Given the description of an element on the screen output the (x, y) to click on. 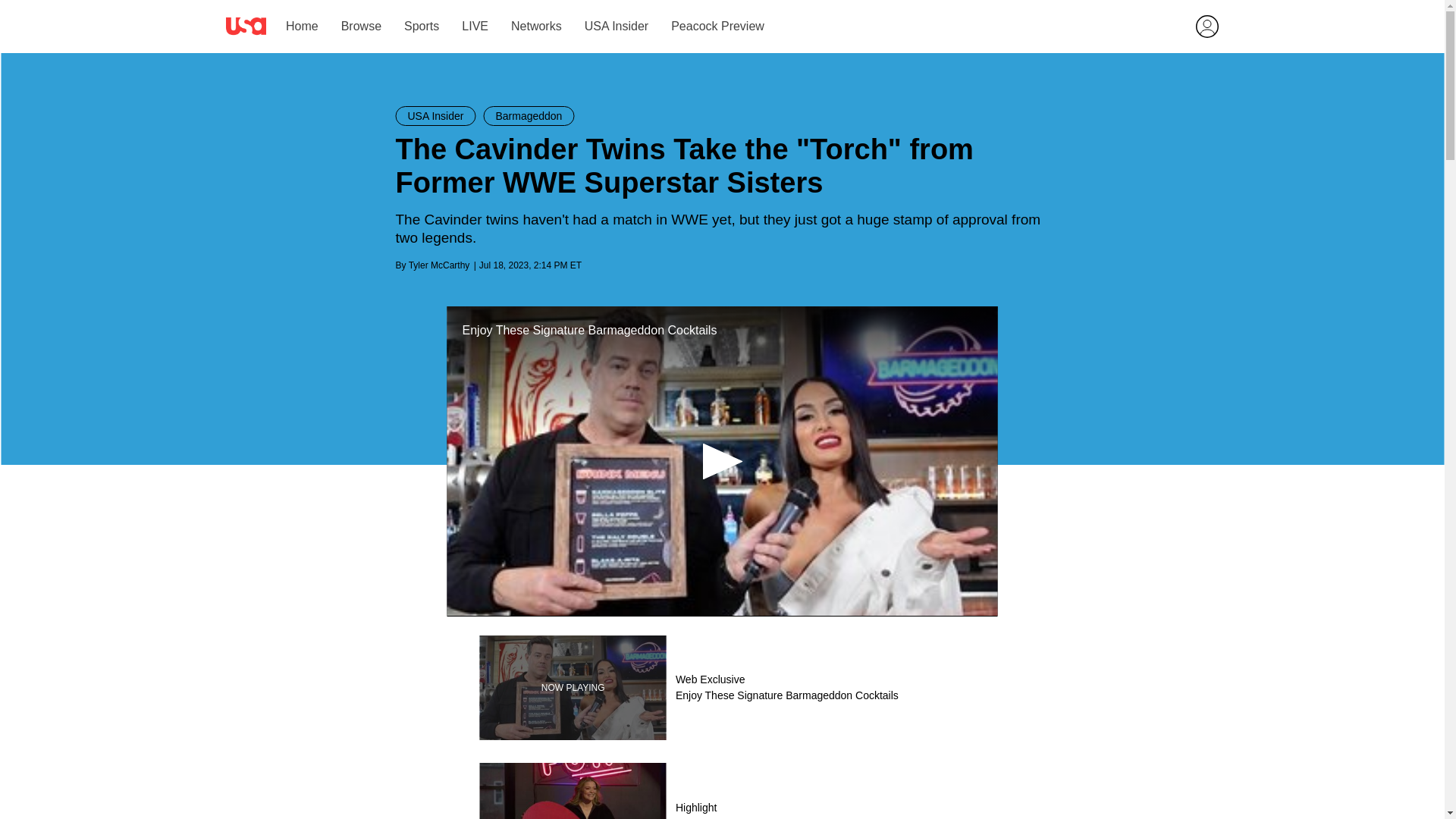
Browse (360, 26)
Sports (421, 26)
Networks (535, 26)
Peacock Preview (717, 26)
LIVE (474, 26)
Tyler McCarthy (439, 265)
Barmageddon (528, 116)
USA Insider (436, 116)
